Given the description of an element on the screen output the (x, y) to click on. 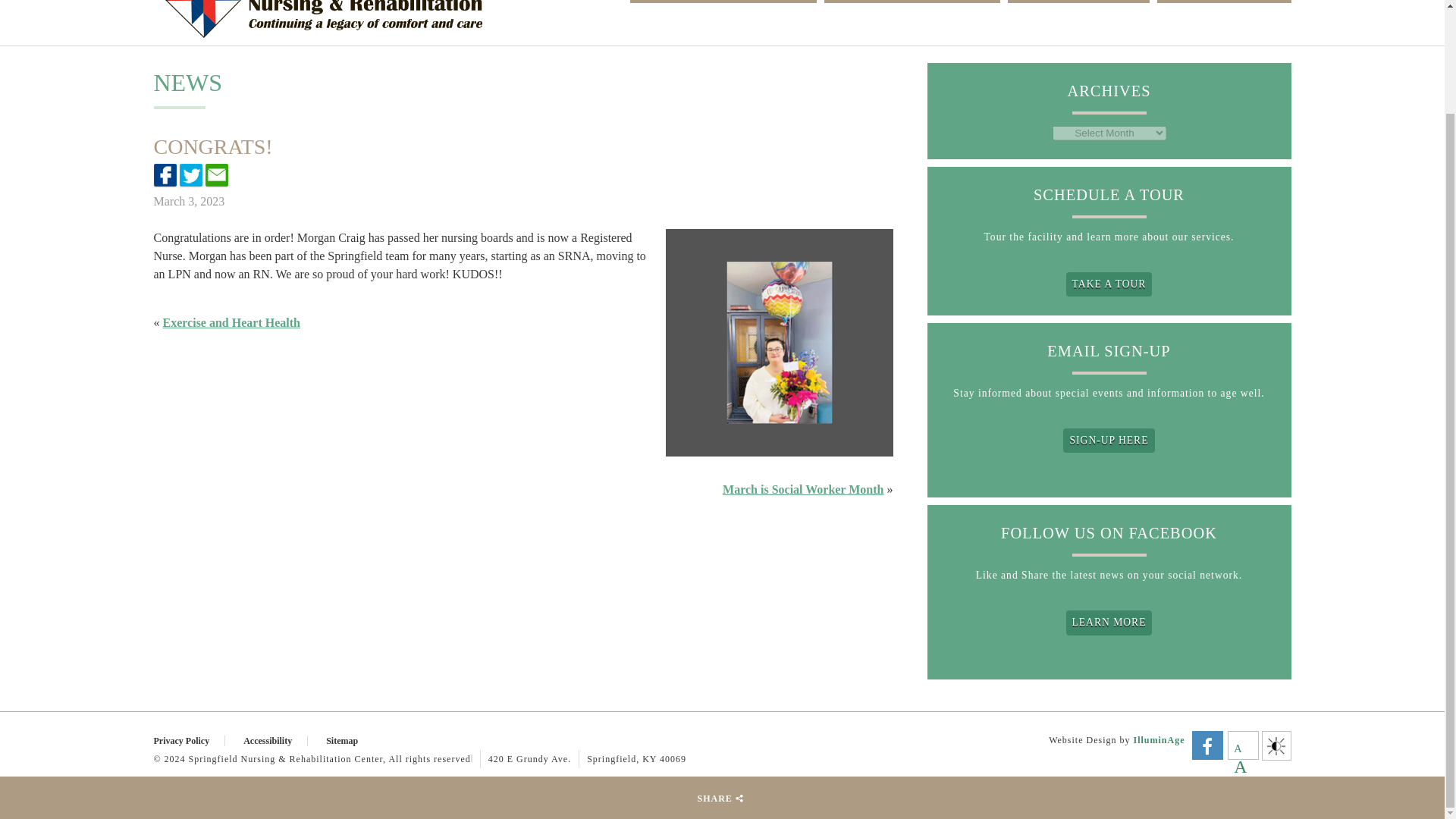
High Contrast: White Background with Black Text (1276, 745)
SKILLED NURSING (723, 1)
PALLIATIVE (1224, 1)
SIGN-UP HERE (1108, 440)
TAKE A TOUR (1109, 283)
SPECIALTIES (1078, 1)
March is Social Worker Month (802, 489)
Accessibility (275, 740)
LEARN MORE (1109, 622)
REHABILITATION (912, 1)
